Given the description of an element on the screen output the (x, y) to click on. 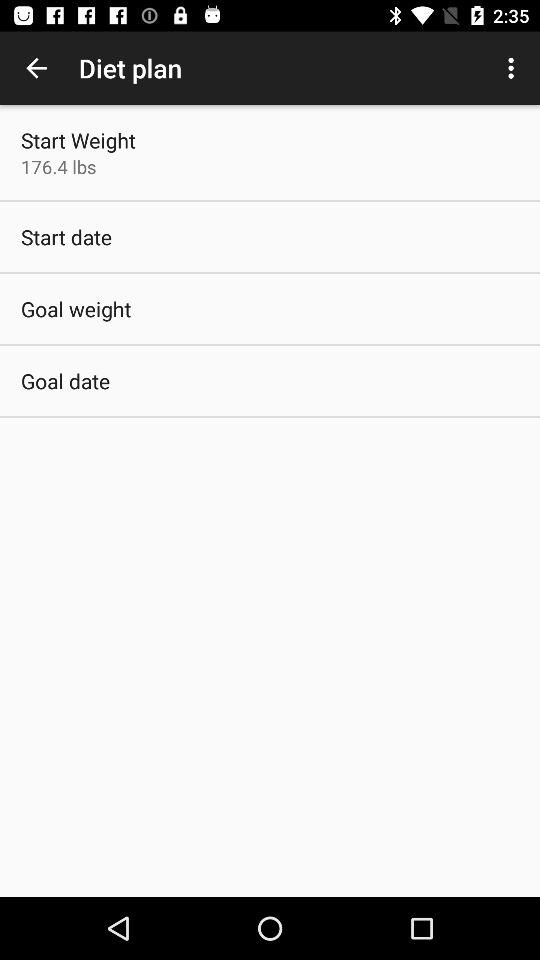
turn off the item at the top right corner (513, 67)
